Given the description of an element on the screen output the (x, y) to click on. 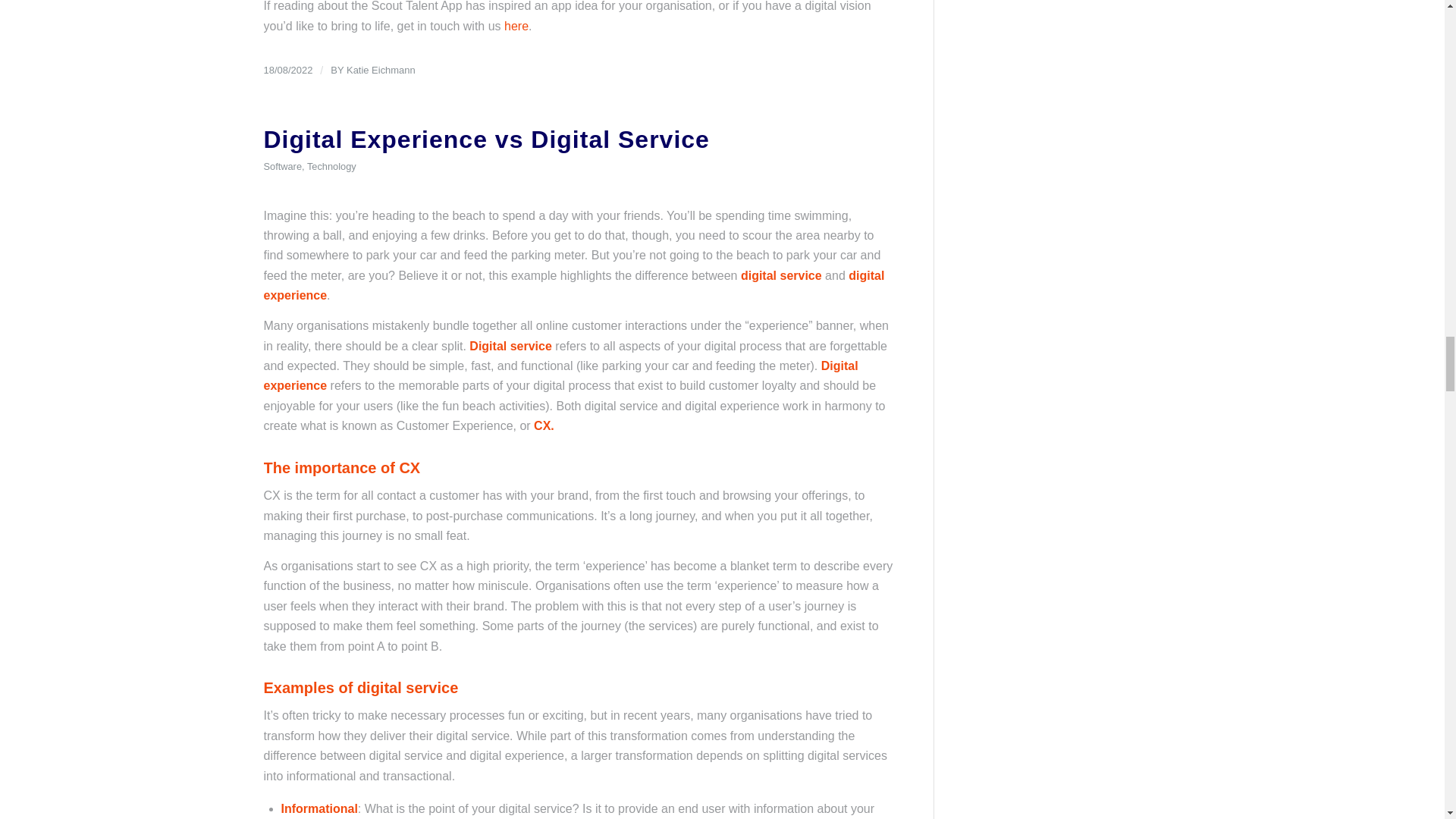
Posts by Katie Eichmann (380, 70)
Permanent Link: Digital Experience vs Digital Service (486, 139)
